Given the description of an element on the screen output the (x, y) to click on. 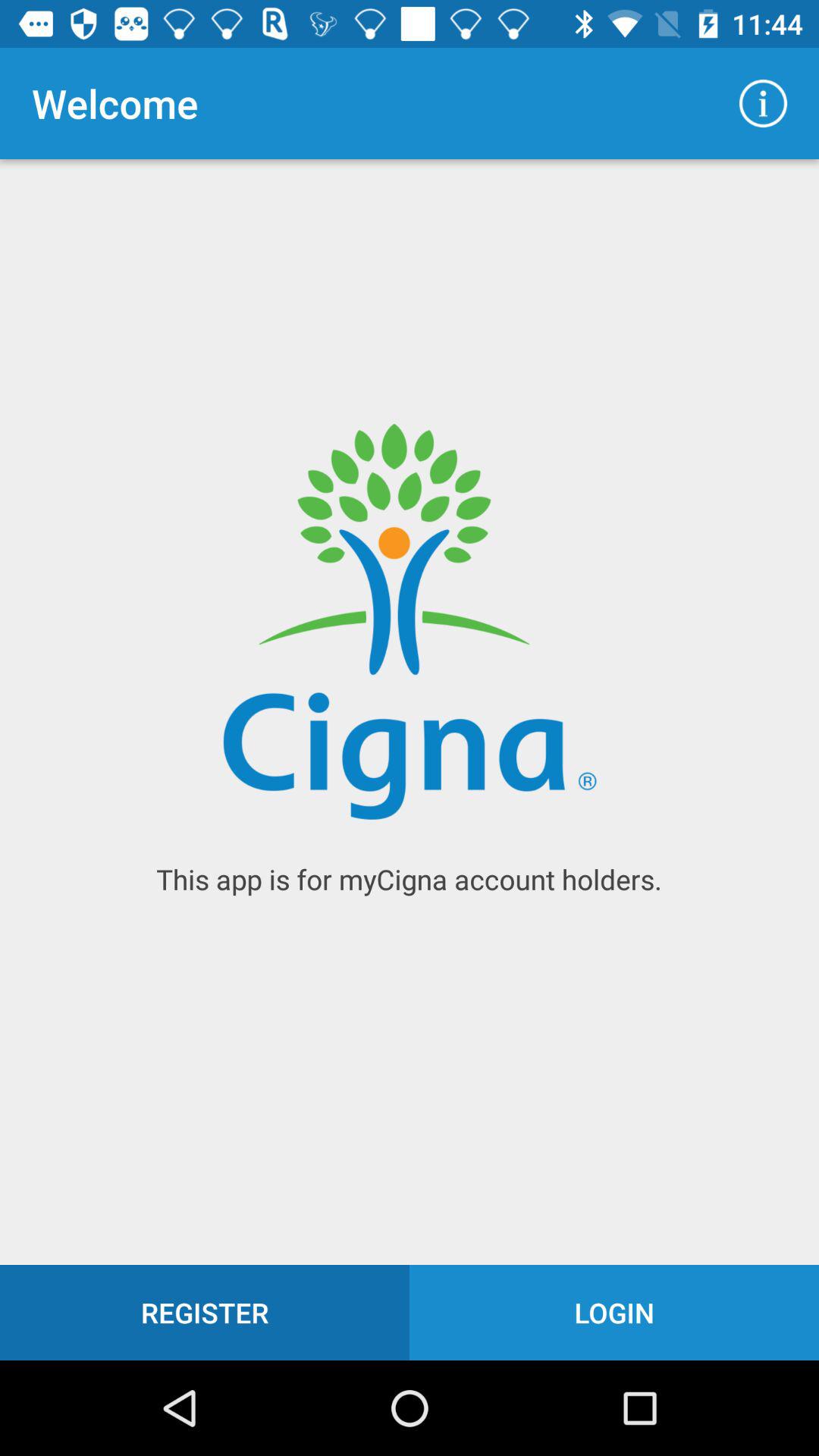
choose register icon (204, 1312)
